Given the description of an element on the screen output the (x, y) to click on. 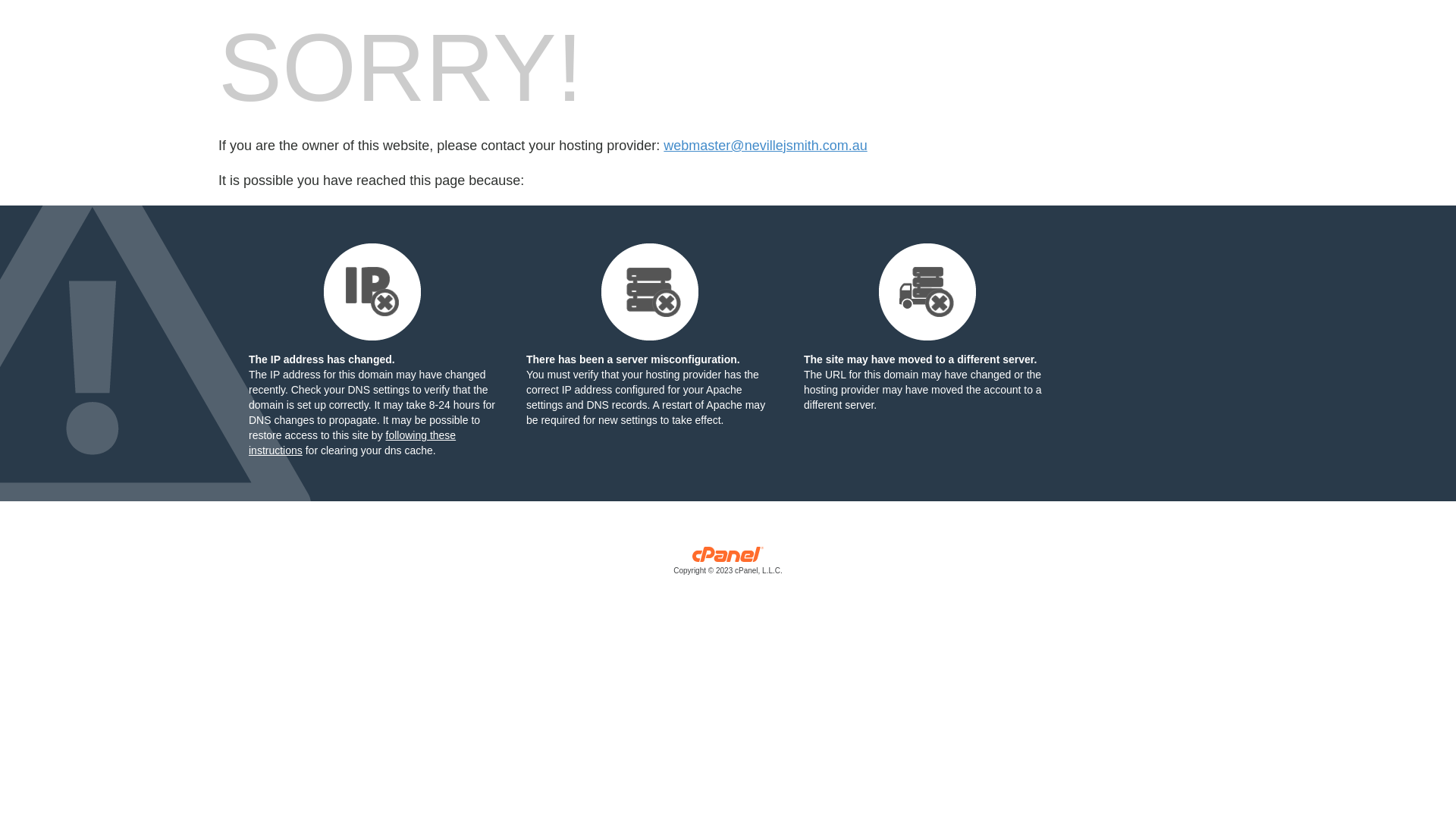
following these instructions Element type: text (351, 442)
webmaster@nevillejsmith.com.au Element type: text (764, 145)
